Given the description of an element on the screen output the (x, y) to click on. 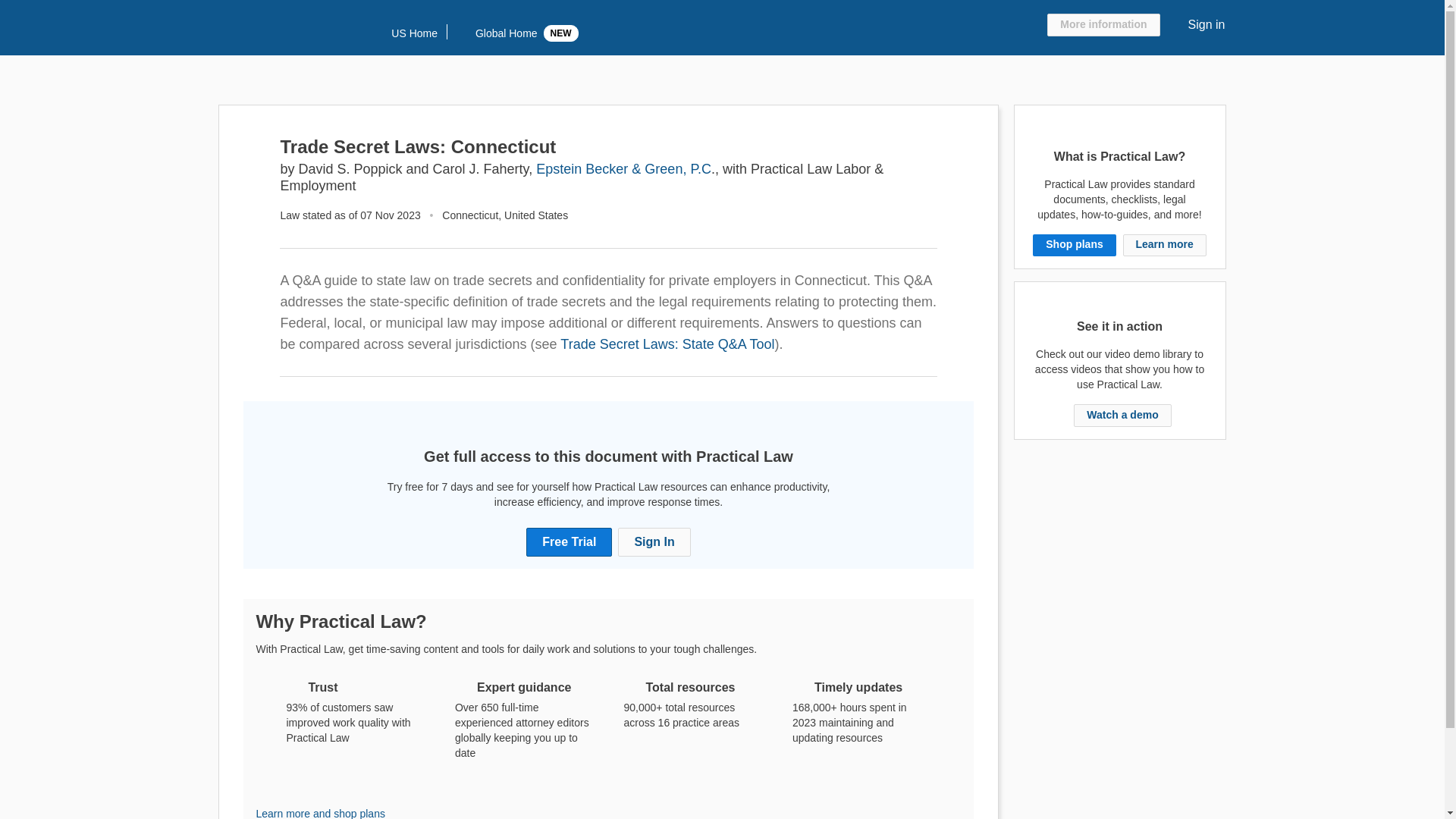
Watch a demo (1122, 415)
Free Trial (568, 541)
More information (1102, 24)
Learn more and shop plans (320, 813)
Sign In (653, 541)
Learn more (1163, 244)
US Home (404, 33)
Shop plans (1073, 244)
Global Home (494, 33)
Sign in (1205, 25)
